Given the description of an element on the screen output the (x, y) to click on. 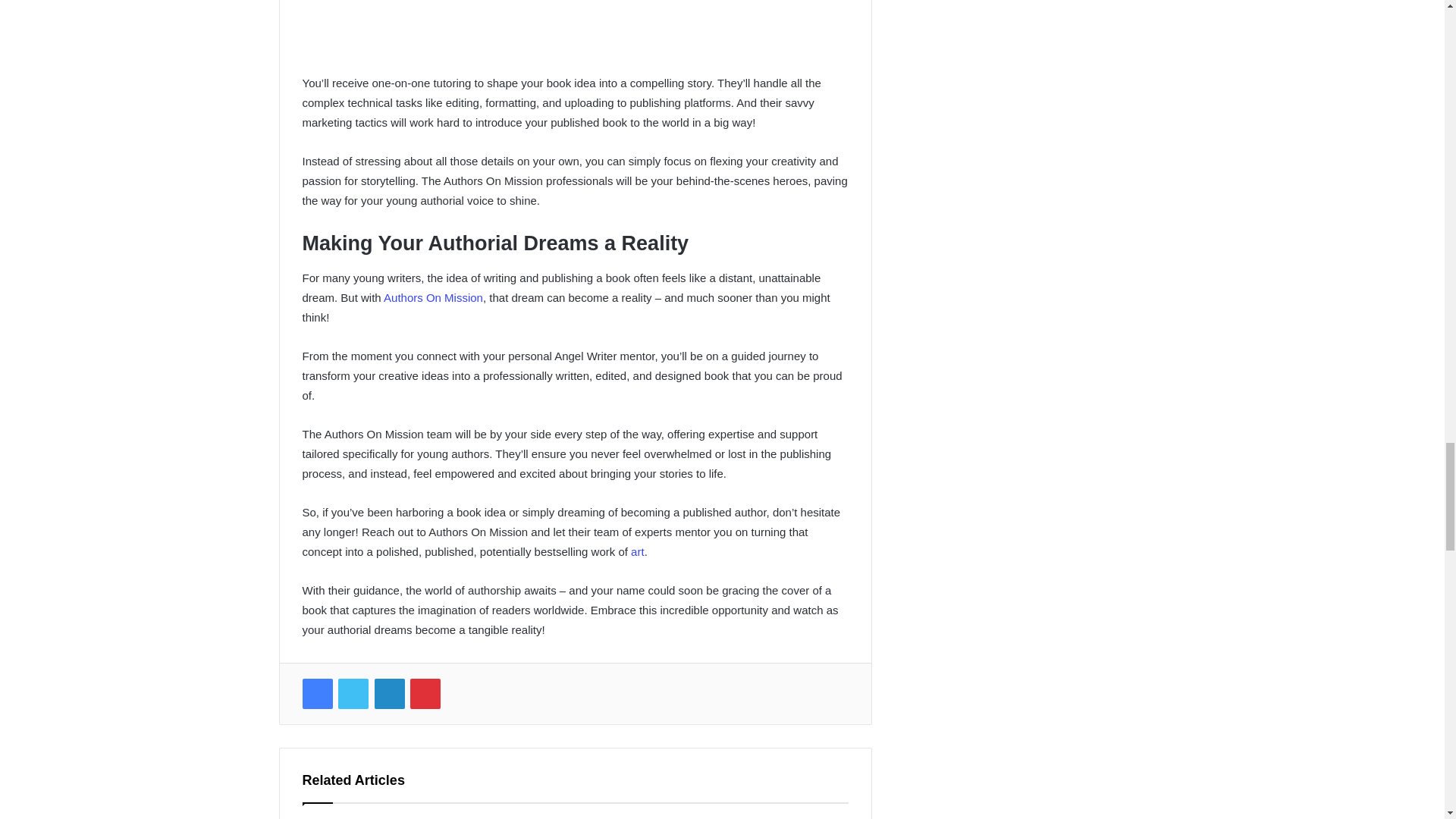
LinkedIn (389, 693)
Authors On Mission (433, 297)
Twitter (352, 693)
Twitter (352, 693)
art (637, 551)
Facebook (316, 693)
Facebook (316, 693)
Pinterest (425, 693)
Advertisement (574, 36)
